Given the description of an element on the screen output the (x, y) to click on. 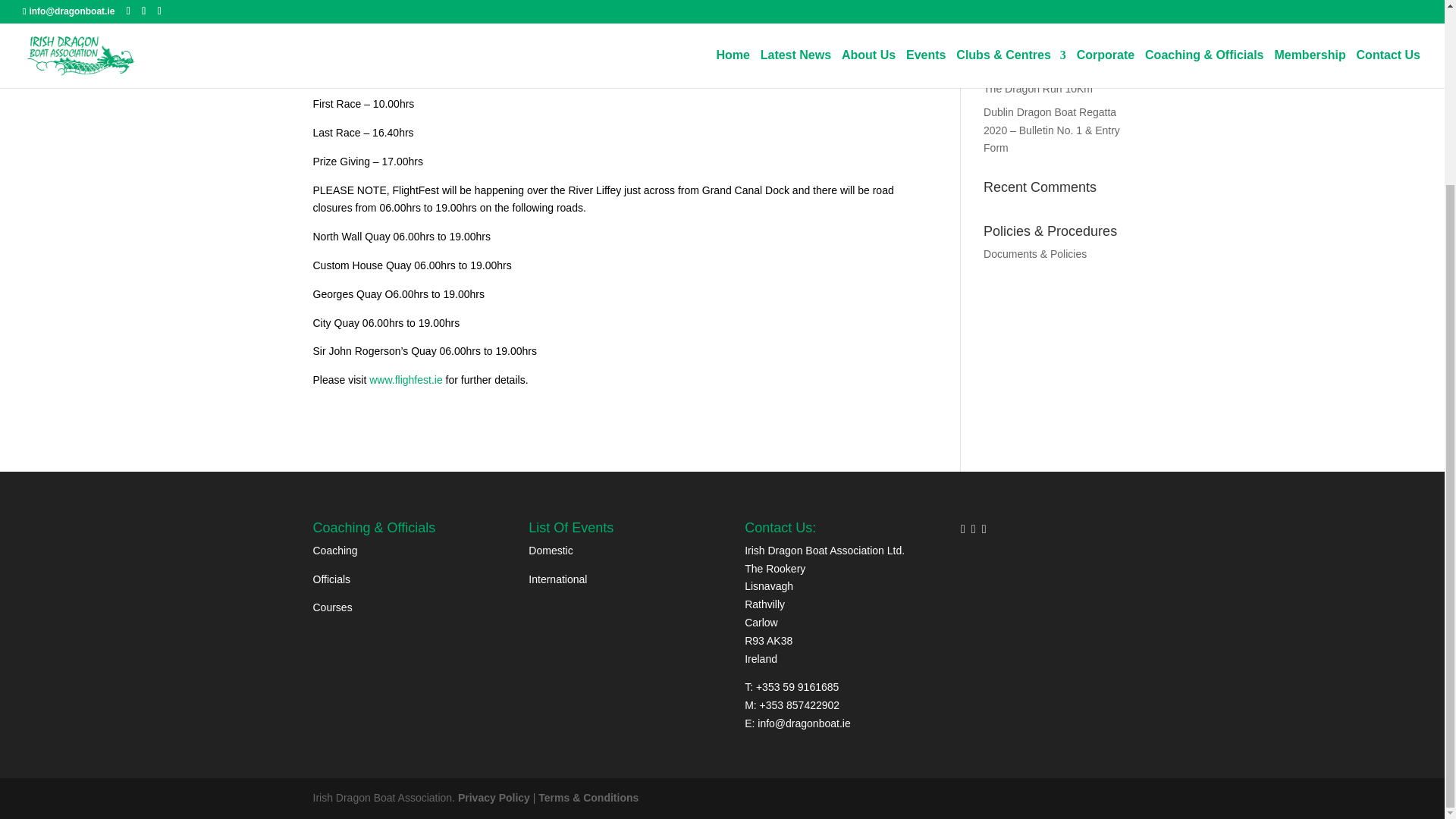
Officials (331, 579)
Courses (332, 607)
Return To Dragon Boating Guidelines (1045, 3)
COVID-19 Press Release (1044, 64)
International (557, 579)
Domestic (550, 550)
www.flighfest.ie (405, 379)
Privacy Policy (493, 797)
Coaching (334, 550)
The Dragon Run 10Km (1038, 88)
